Given the description of an element on the screen output the (x, y) to click on. 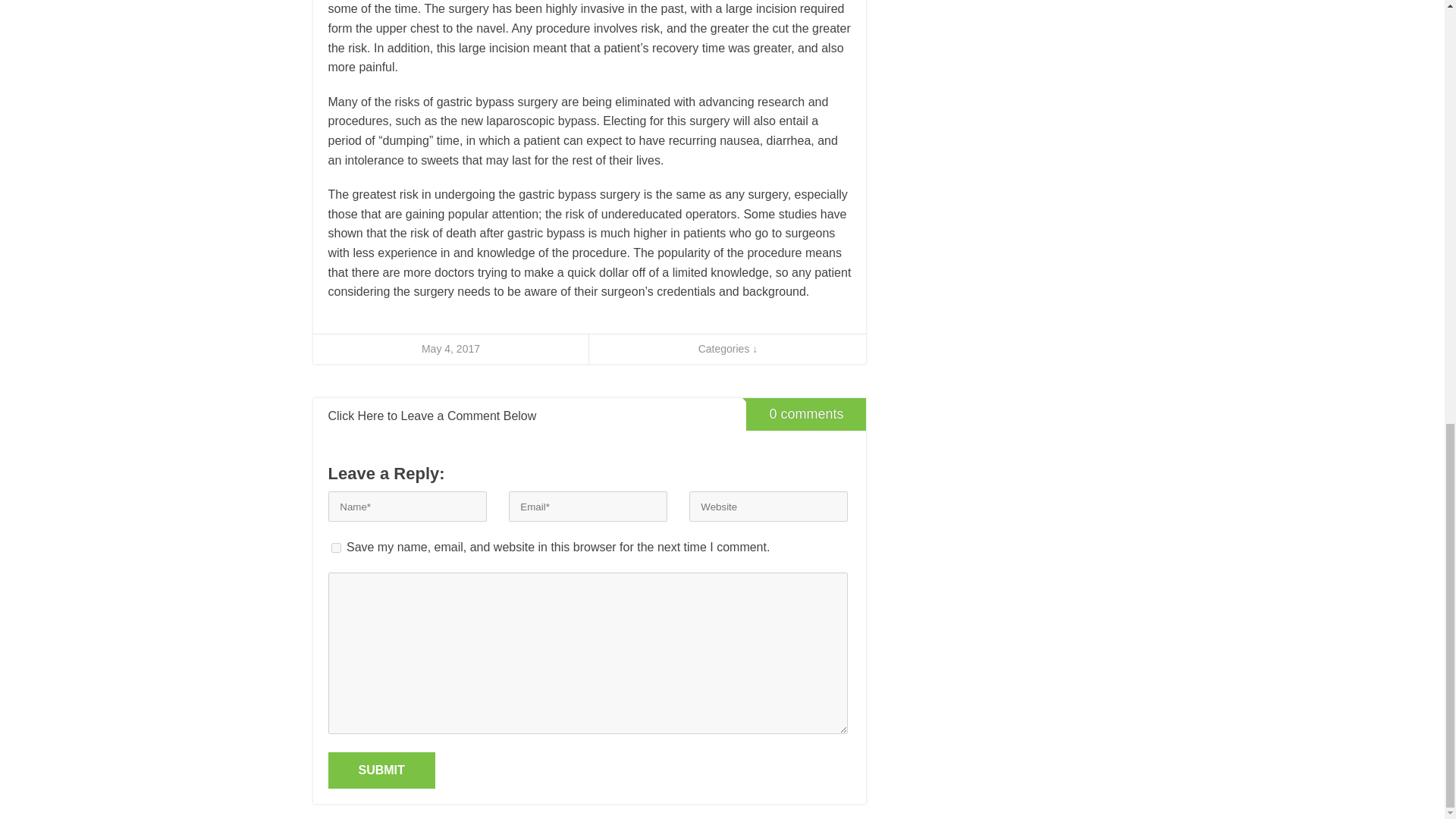
SUBMIT (380, 770)
SUBMIT (380, 770)
yes (335, 547)
